Given the description of an element on the screen output the (x, y) to click on. 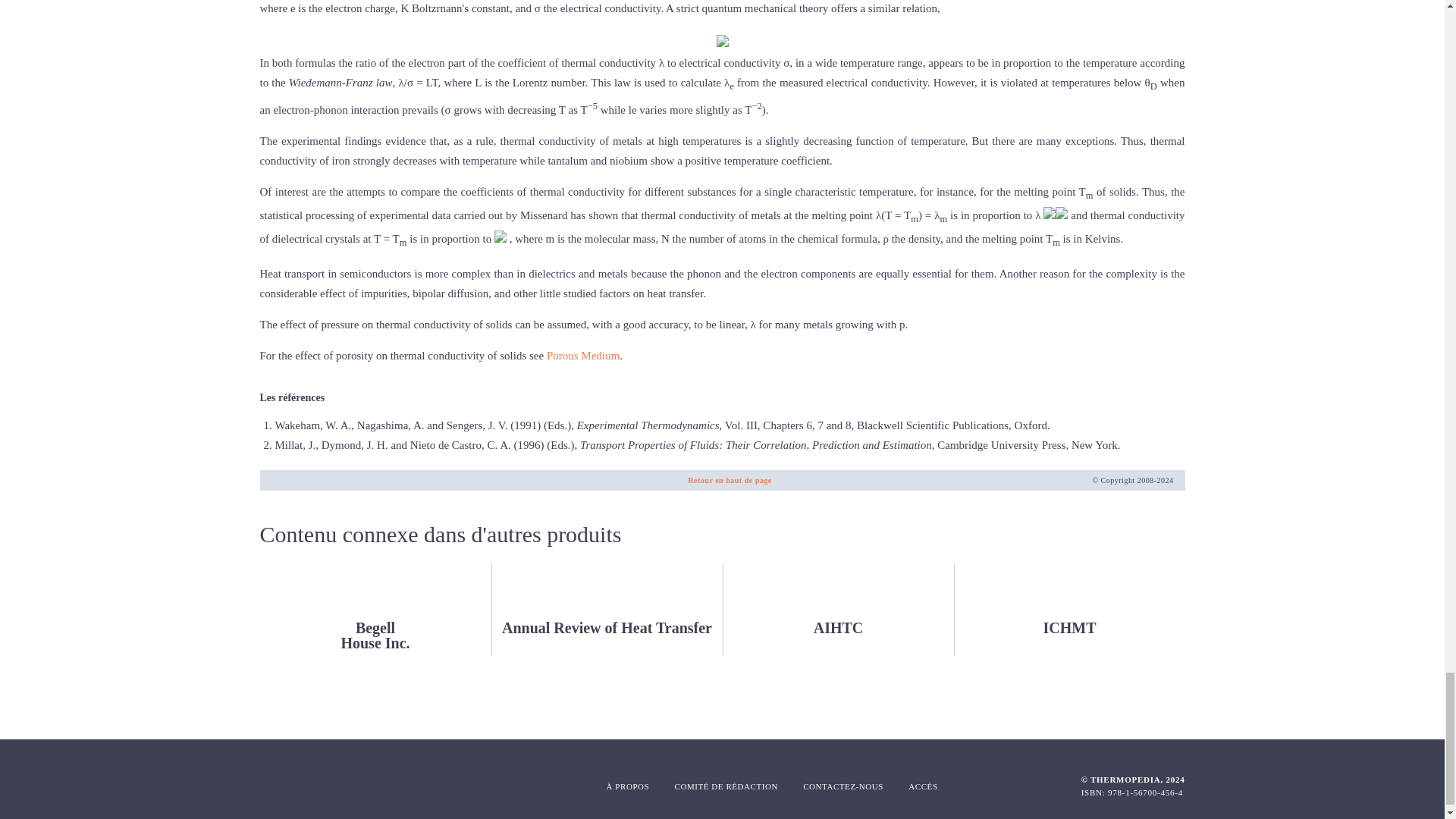
Retour en haut de page (374, 609)
Retour en haut de page (729, 480)
Porous Medium (729, 480)
POROUS MEDIUM (583, 355)
